Given the description of an element on the screen output the (x, y) to click on. 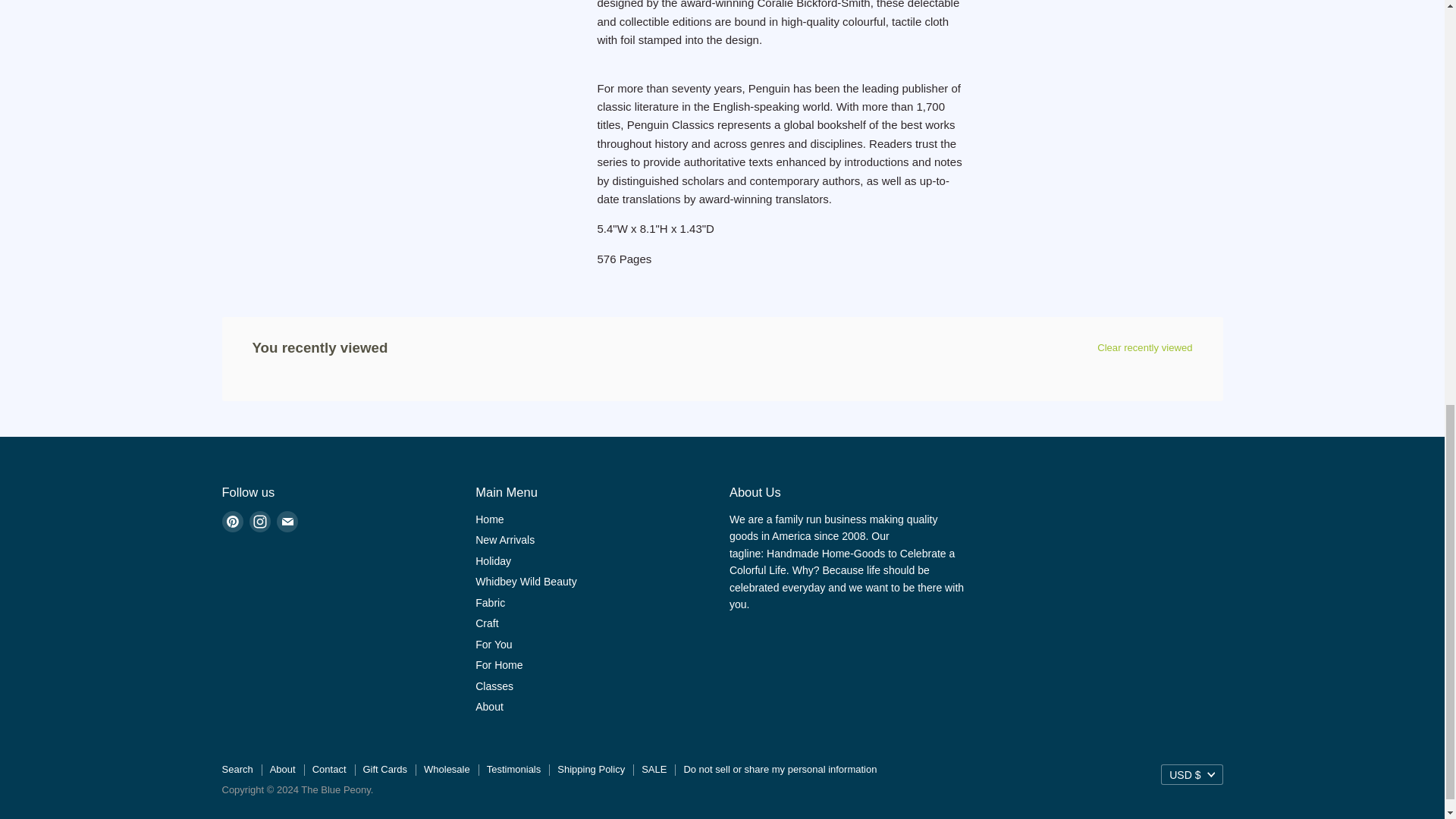
Instagram (259, 521)
E-mail (286, 521)
Pinterest (232, 521)
